Given the description of an element on the screen output the (x, y) to click on. 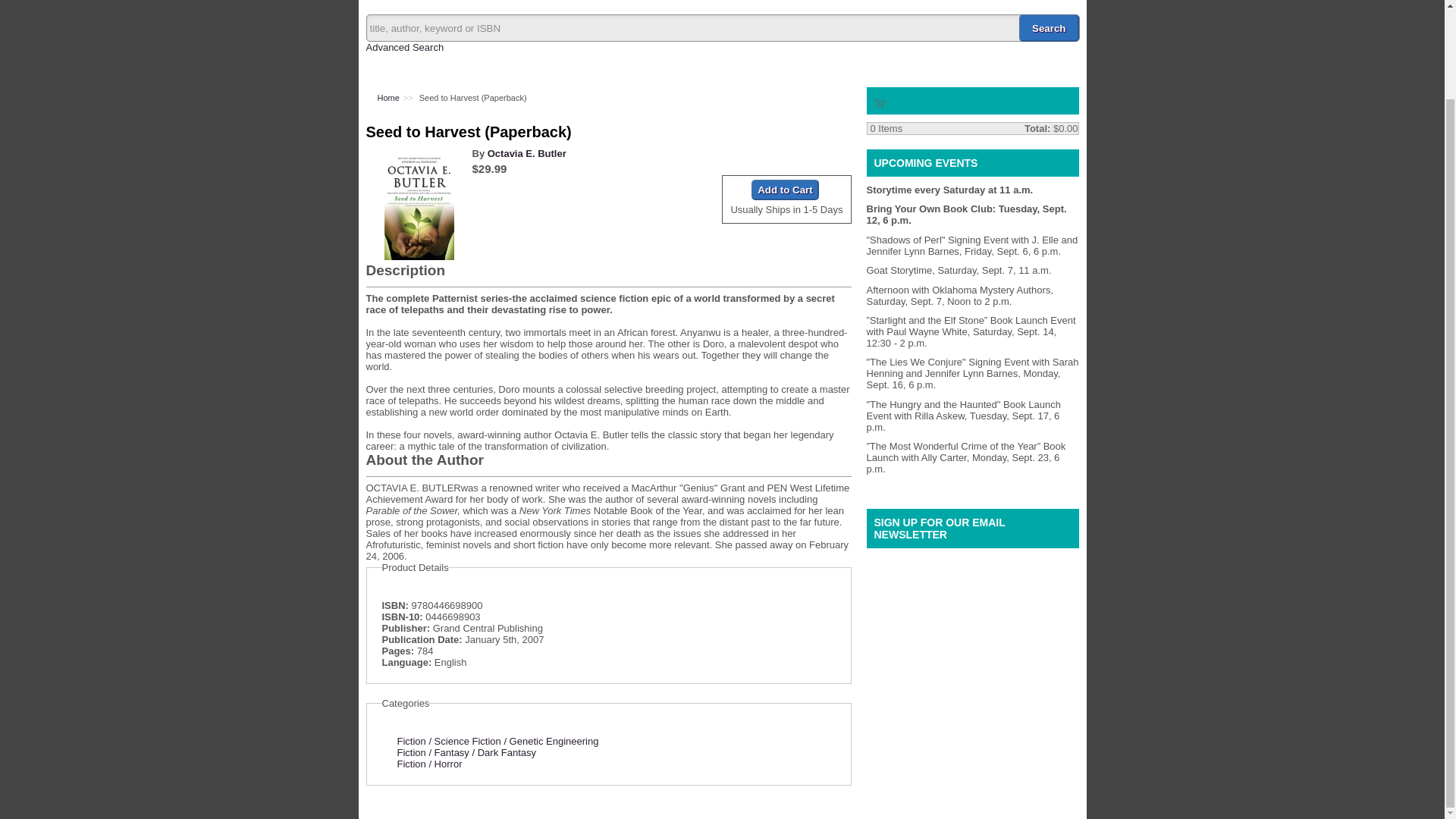
View your shopping cart. (879, 101)
Add to Cart (784, 189)
Enter the terms you wish to search for. (721, 27)
Search (1048, 27)
